Given the description of an element on the screen output the (x, y) to click on. 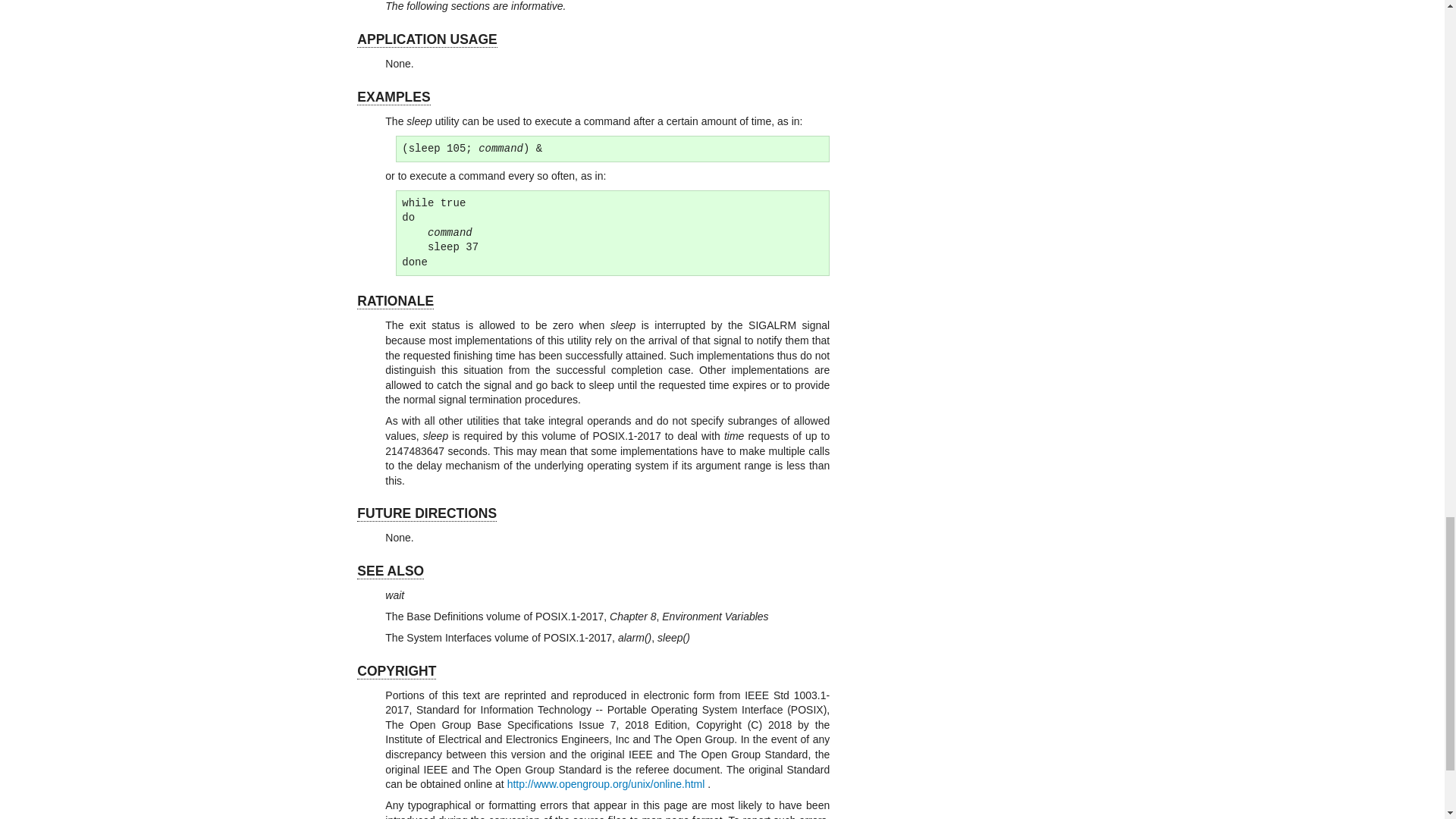
FUTURE DIRECTIONS (426, 513)
RATIONALE (394, 301)
APPLICATION USAGE (426, 39)
COPYRIGHT (395, 671)
SEE ALSO (389, 571)
EXAMPLES (392, 97)
